Given the description of an element on the screen output the (x, y) to click on. 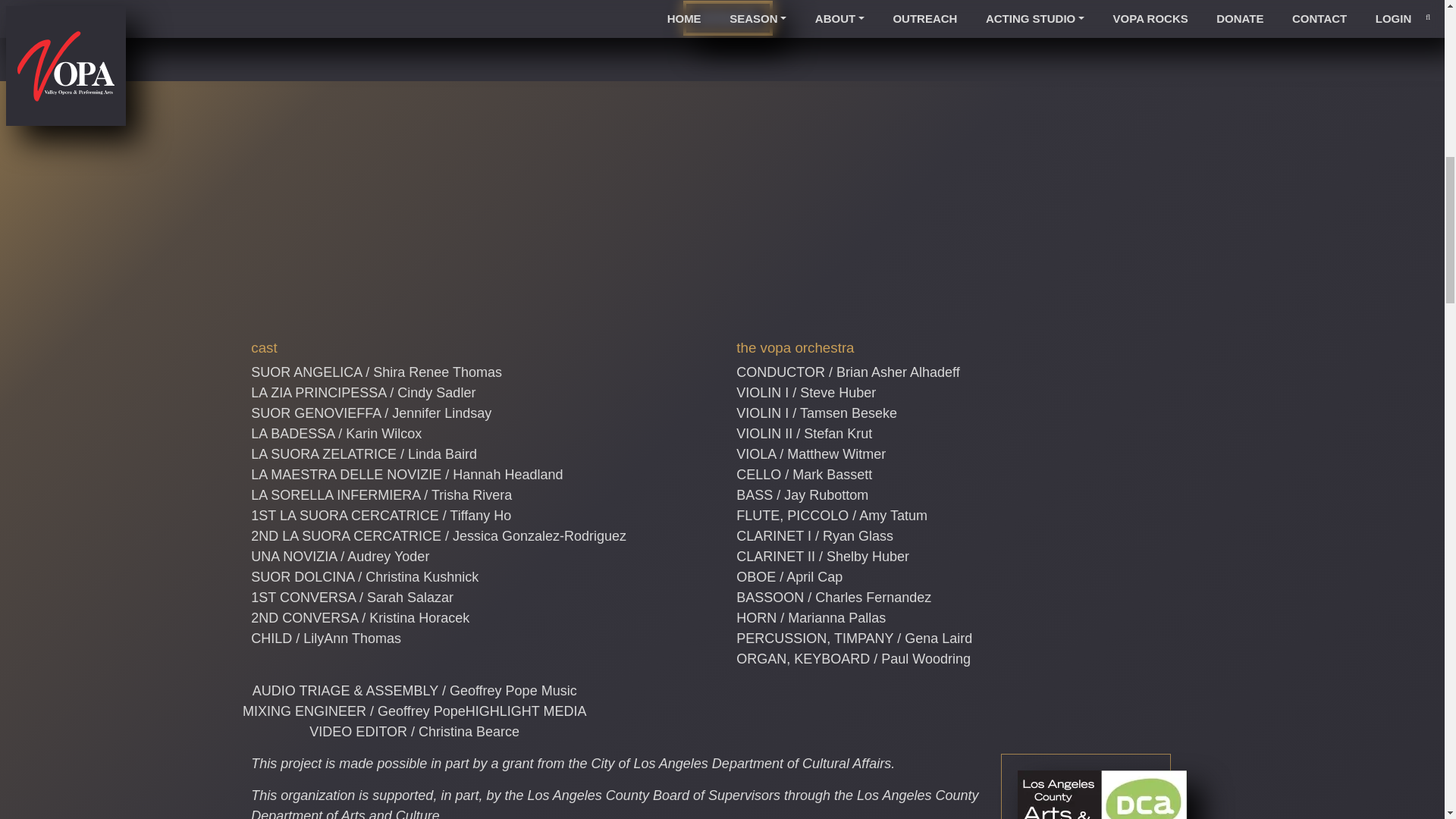
Virtual Suor Angelica - Full Opera with Orchestra (727, 221)
Link to our donation page (726, 18)
DONATE (726, 18)
